Given the description of an element on the screen output the (x, y) to click on. 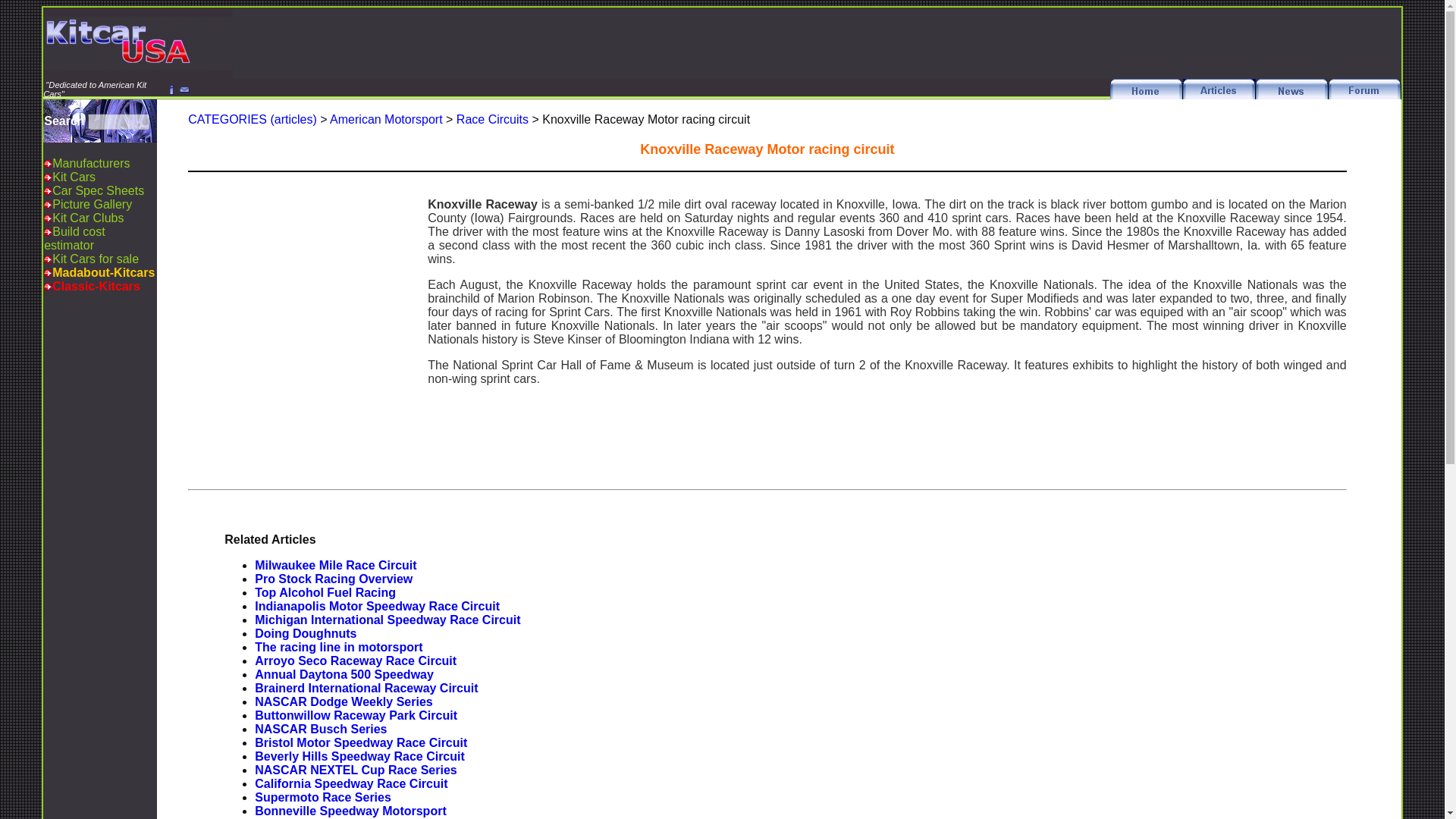
UK kit car information at Madabout-Kitcars.com (103, 272)
Kit Car Spec sheets (98, 190)
Indianapolis Motor Speedway Race Circuit (376, 605)
Buttonwillow Raceway Park Circuit (355, 715)
Bristol Motor Speedway Race Circuit (360, 742)
Arroyo Seco Raceway Race Circuit (355, 660)
Kit car discussion and build progress (1363, 94)
Club listing for American kit car clubs (87, 217)
Classic Kitcar information at Classic-Kitcars.com (95, 286)
